Given the description of an element on the screen output the (x, y) to click on. 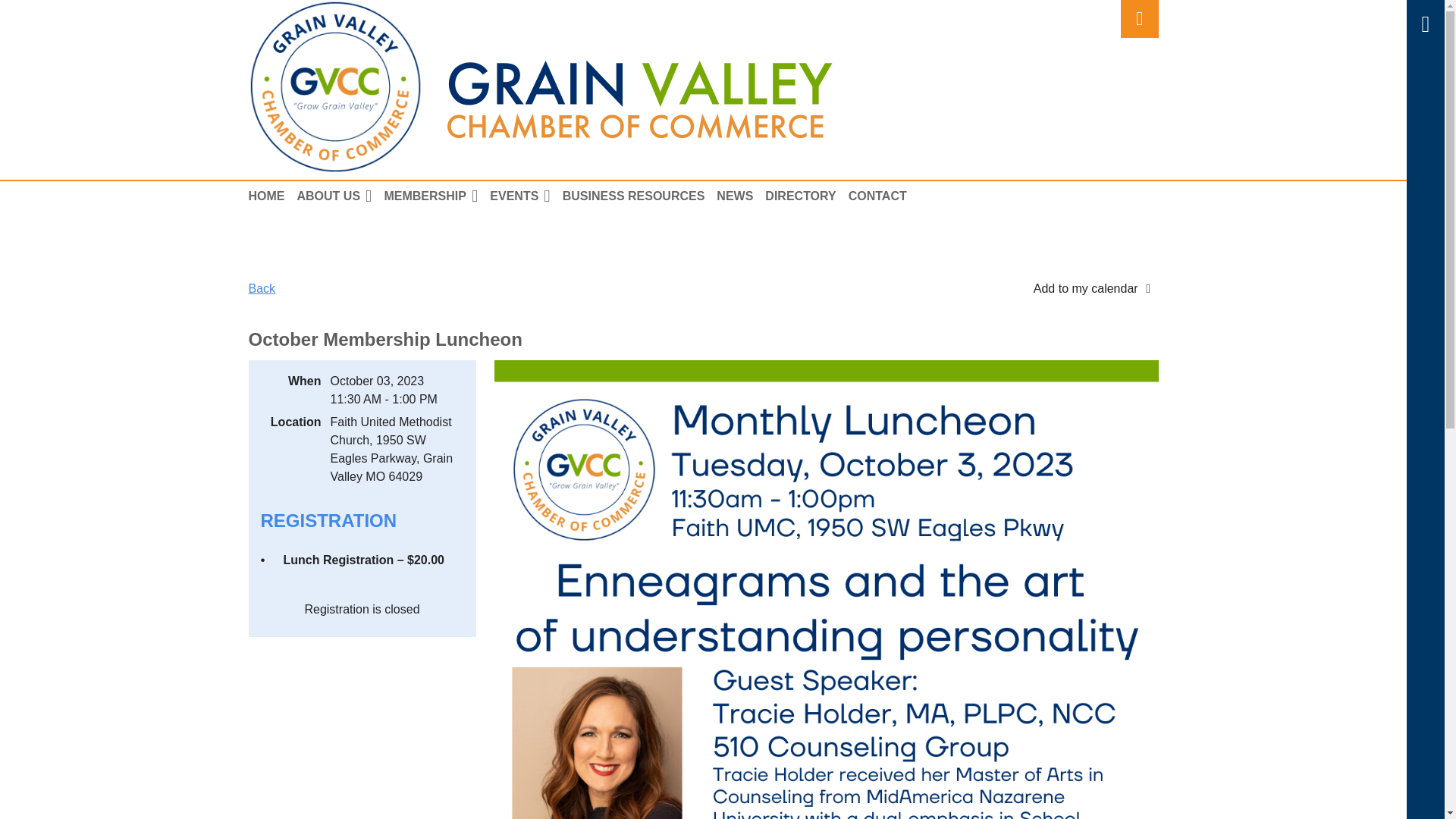
MEMBERSHIP (436, 195)
EVENTS (525, 195)
Back (262, 287)
BUSINESS RESOURCES (639, 195)
NEWS (740, 195)
Log in (1139, 18)
CONTACT (883, 195)
ABOUT US (340, 195)
DIRECTORY (806, 195)
HOME (272, 195)
